Given the description of an element on the screen output the (x, y) to click on. 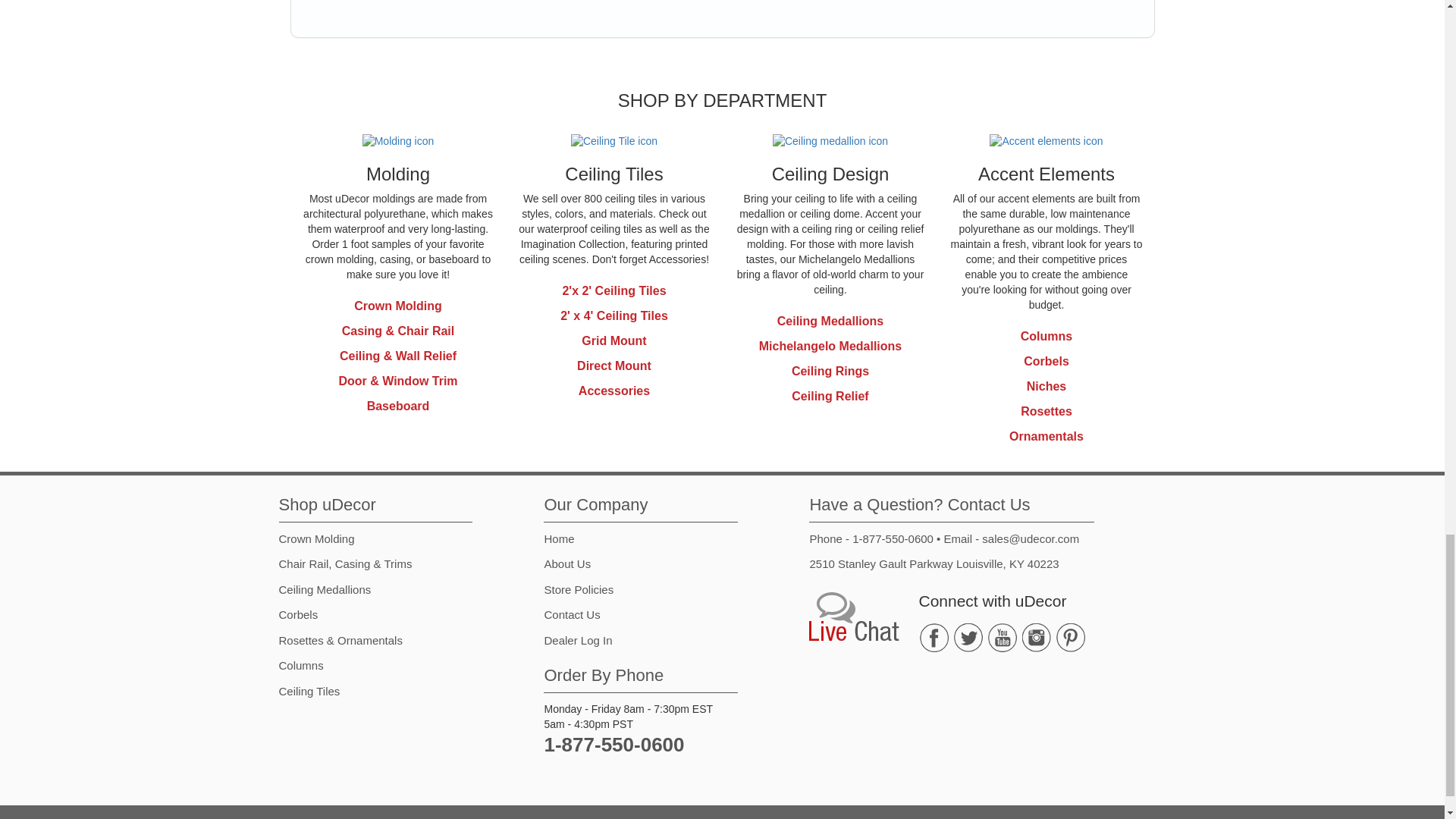
You Tube (1002, 637)
Facebook (934, 637)
Instagram (1036, 637)
Twitter (967, 637)
